Given the description of an element on the screen output the (x, y) to click on. 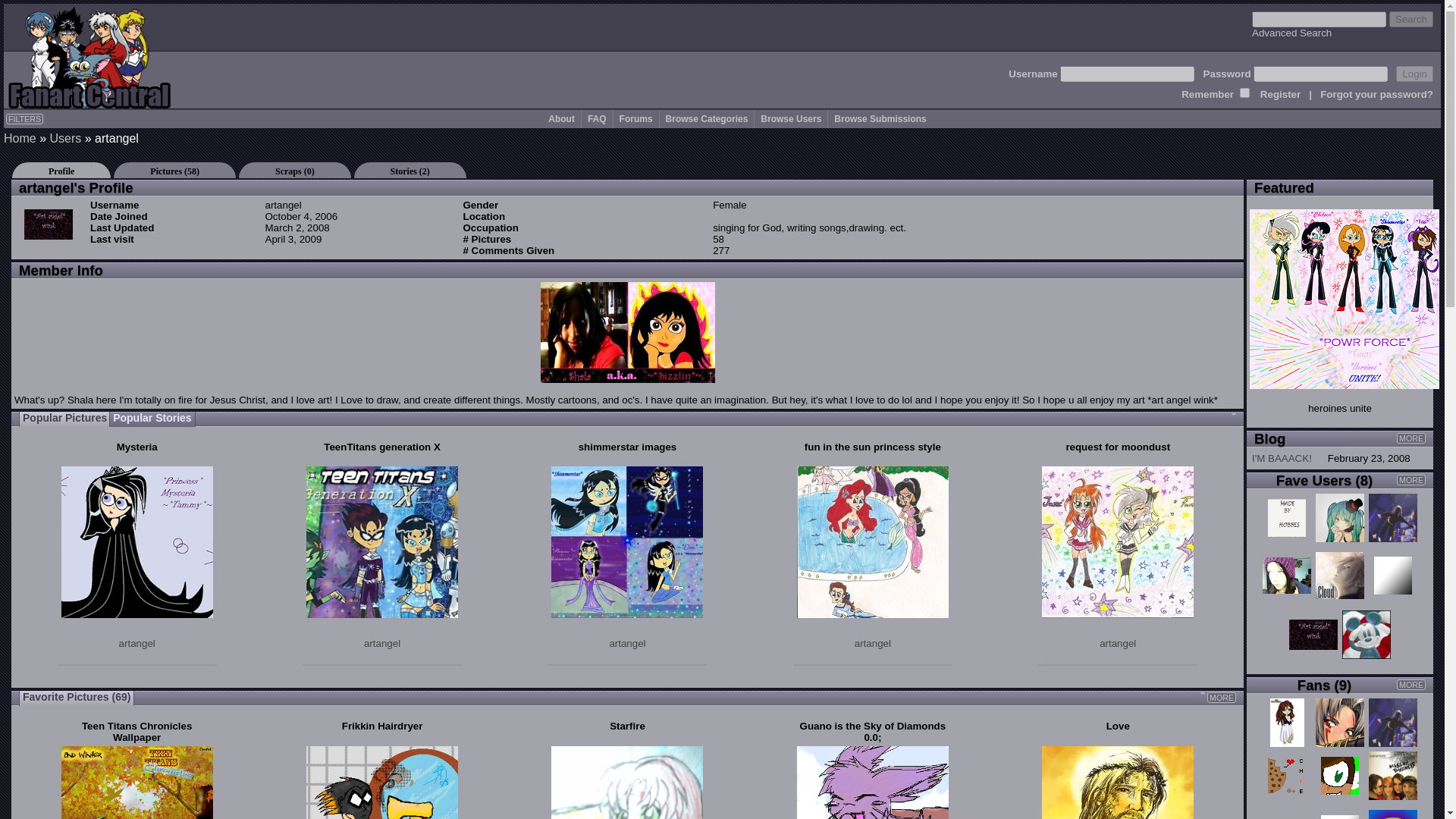
Popular Stories (152, 418)
Forums (636, 118)
Login (1414, 73)
Browse Users (790, 118)
artangel (137, 643)
shimmerstar images (627, 446)
FAQ (597, 118)
TeenTitans generation X (382, 446)
artangel (626, 643)
Login (1414, 73)
Advanced Search (1292, 32)
Logo (90, 56)
1 (1244, 92)
Profile (60, 170)
Browse Categories (706, 118)
